Given the description of an element on the screen output the (x, y) to click on. 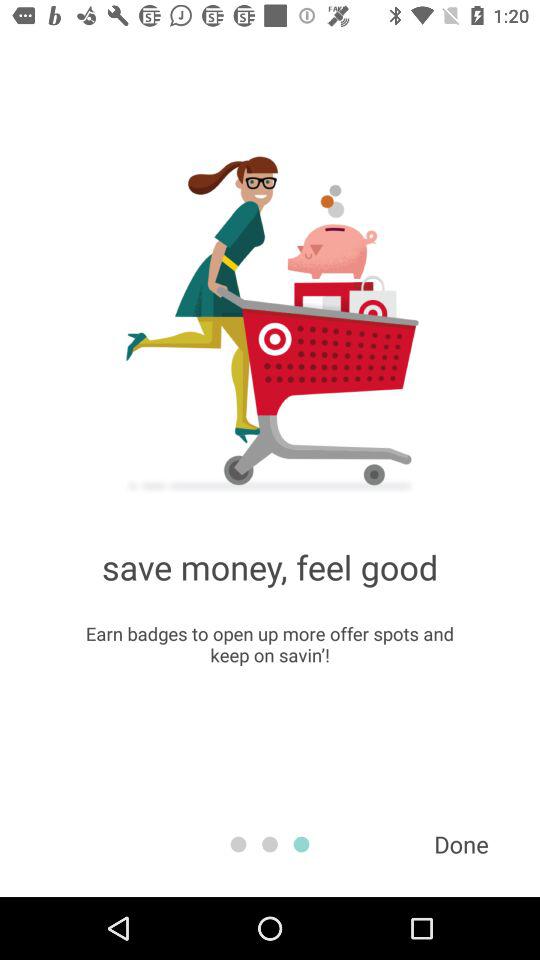
turn on item below the earn badges to item (461, 844)
